Given the description of an element on the screen output the (x, y) to click on. 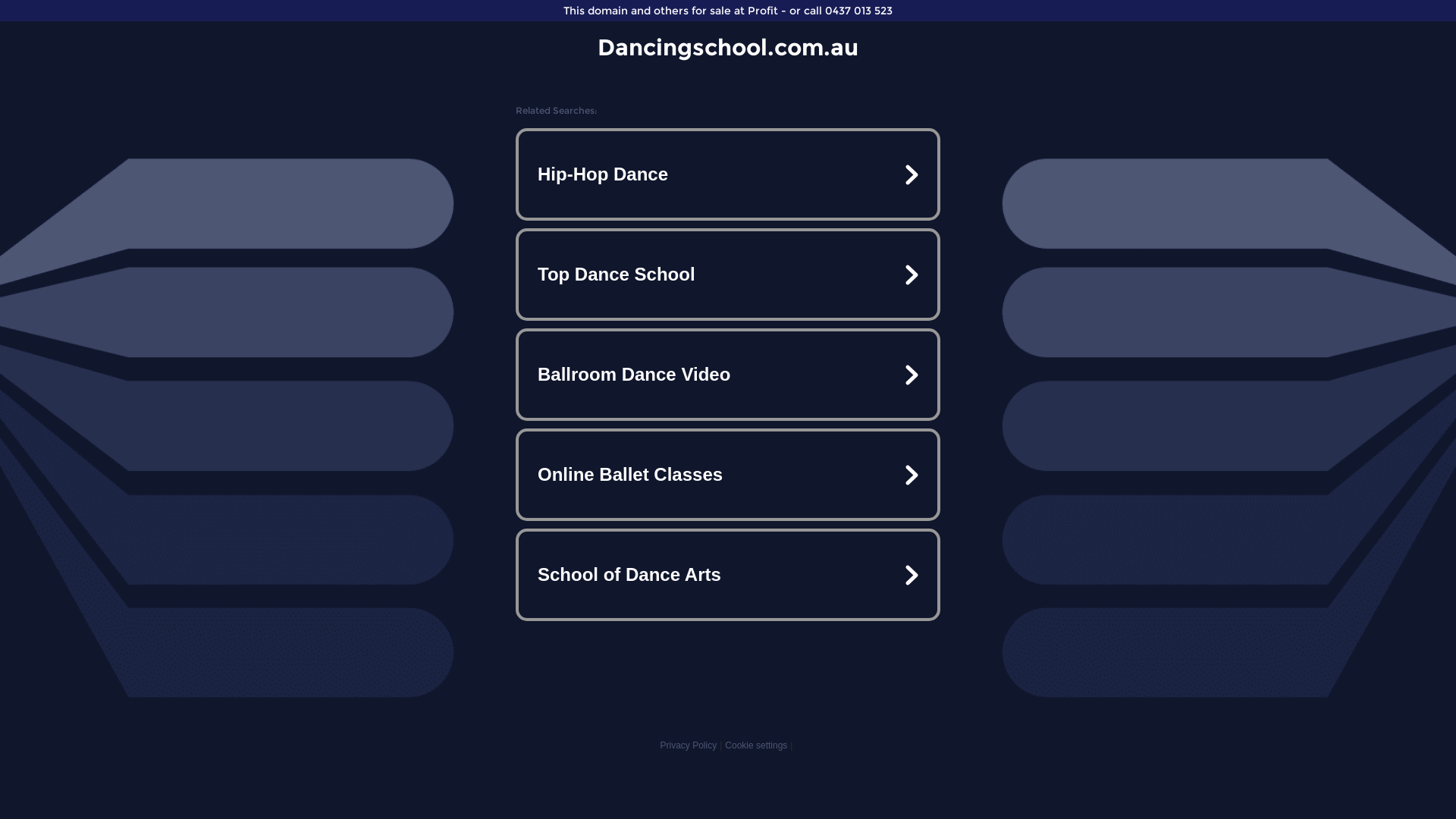
Hip-Hop Dance Element type: text (727, 174)
Ballroom Dance Video Element type: text (727, 374)
Top Dance School Element type: text (727, 274)
Privacy Policy Element type: text (687, 745)
Cookie settings Element type: text (755, 745)
Online Ballet Classes Element type: text (727, 474)
School of Dance Arts Element type: text (727, 574)
Dancingschool.com.au Element type: text (727, 47)
